Given the description of an element on the screen output the (x, y) to click on. 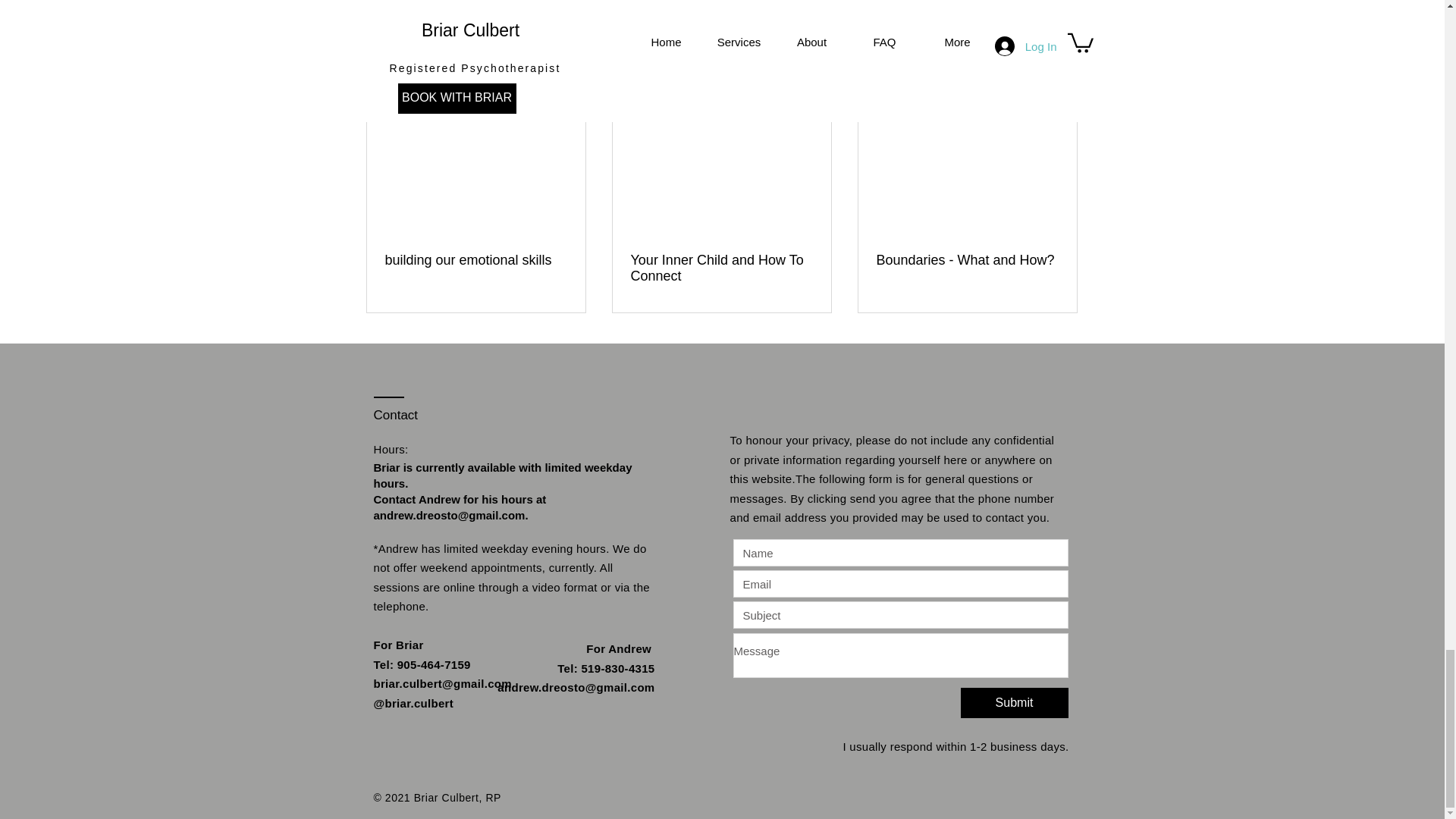
See All (1061, 84)
Submit (1013, 702)
Boundaries - What and How? (967, 260)
Your Inner Child and How To Connect (721, 268)
building our emotional skills (476, 260)
